Given the description of an element on the screen output the (x, y) to click on. 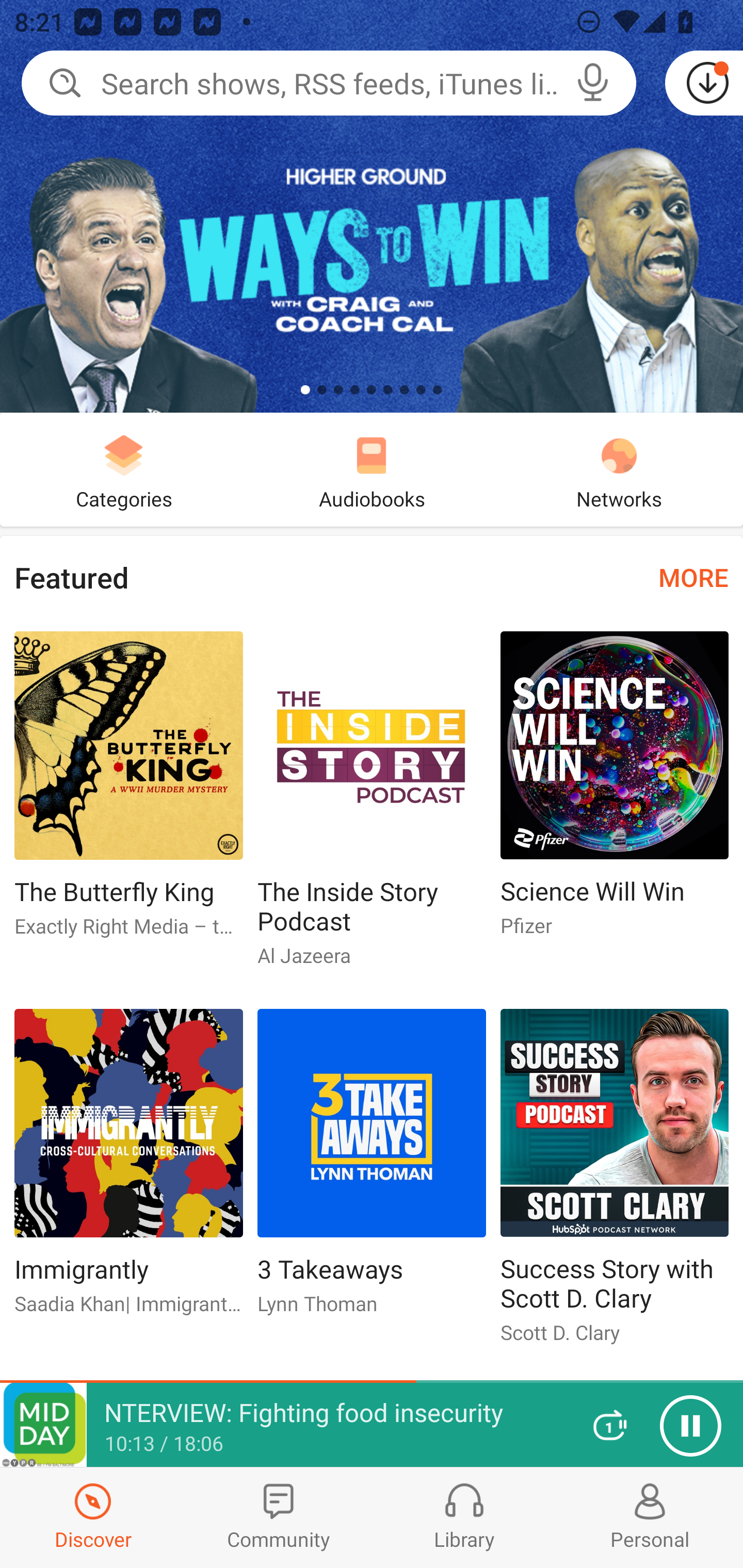
Ways To Win (371, 206)
Categories (123, 469)
Audiobooks (371, 469)
Networks (619, 469)
MORE (693, 576)
Science Will Win Science Will Win Pfizer (614, 792)
3 Takeaways 3 Takeaways Lynn Thoman (371, 1169)
Pause (690, 1425)
Discover (92, 1517)
Community (278, 1517)
Library (464, 1517)
Profiles and Settings Personal (650, 1517)
